Given the description of an element on the screen output the (x, y) to click on. 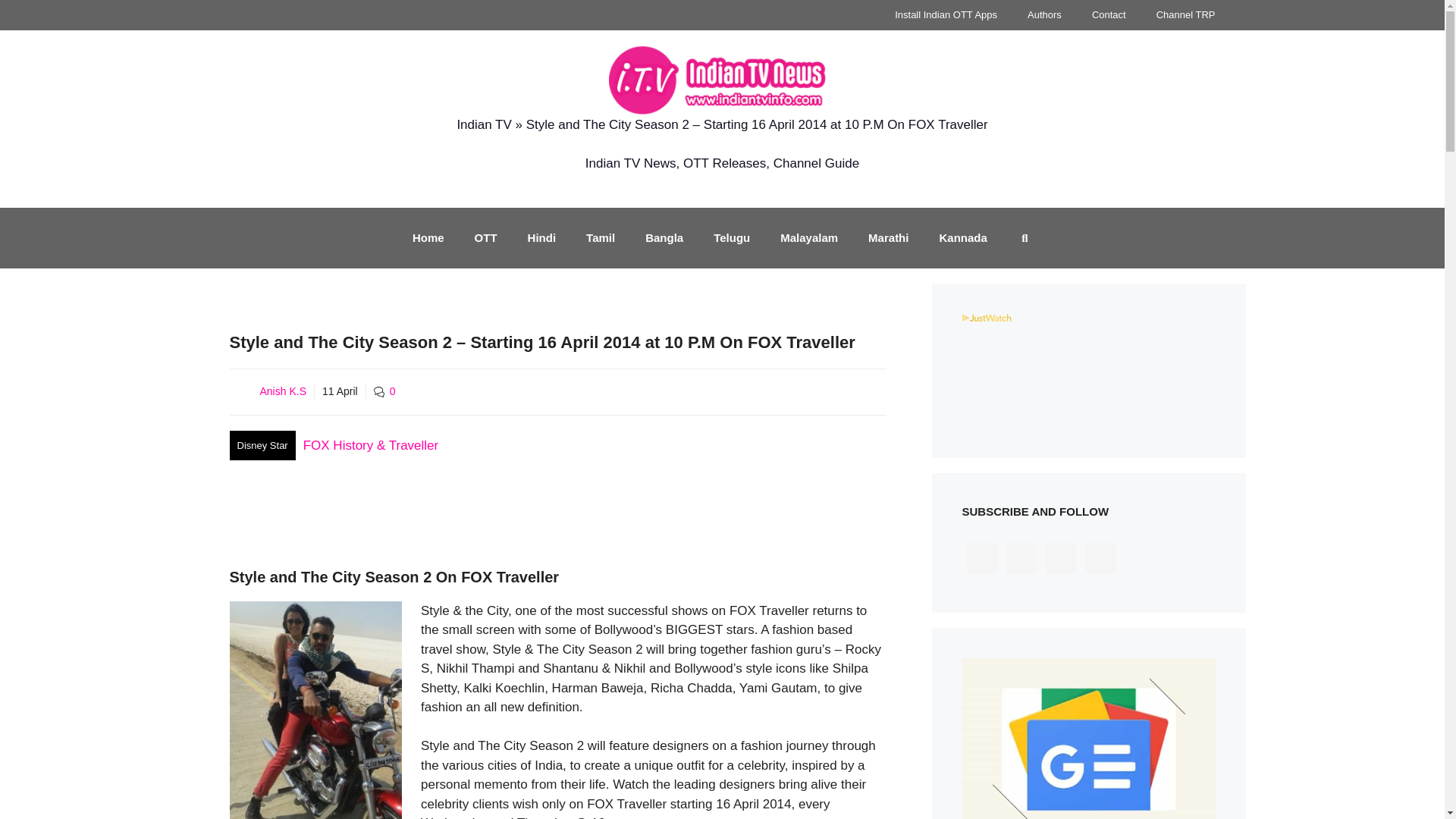
Marathi (888, 238)
Home (428, 238)
Hindi (542, 238)
Indian Television News Authors (1044, 15)
Install Indian OTT Apps (945, 15)
Contact (1109, 15)
Tamil (600, 238)
Download Free Indian OTT Apps (945, 15)
Malayalam (809, 238)
Telugu (731, 238)
Contact Us (1109, 15)
Kannada (962, 238)
Latest Television Rating Points (1185, 15)
Anish K.S (282, 390)
Authors (1044, 15)
